Given the description of an element on the screen output the (x, y) to click on. 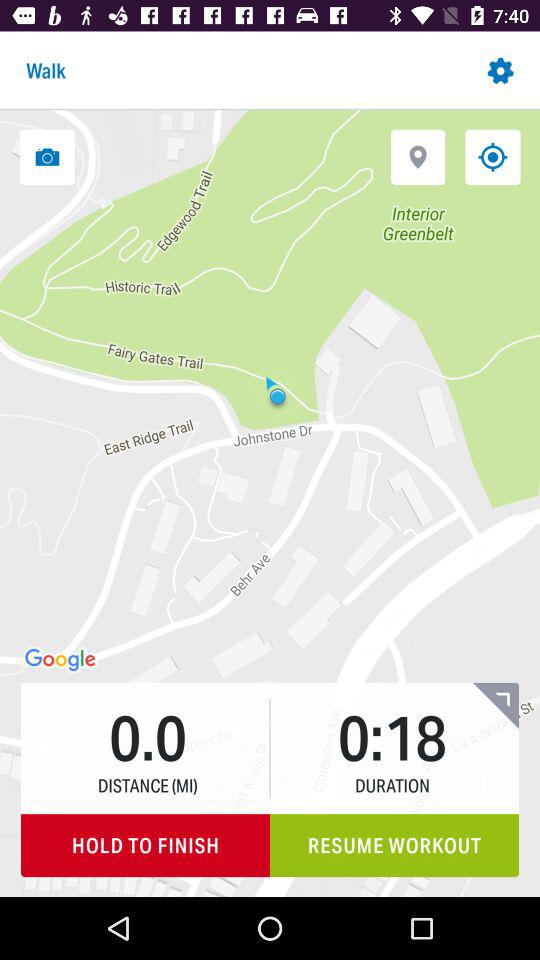
flip to hold to finish (145, 845)
